Given the description of an element on the screen output the (x, y) to click on. 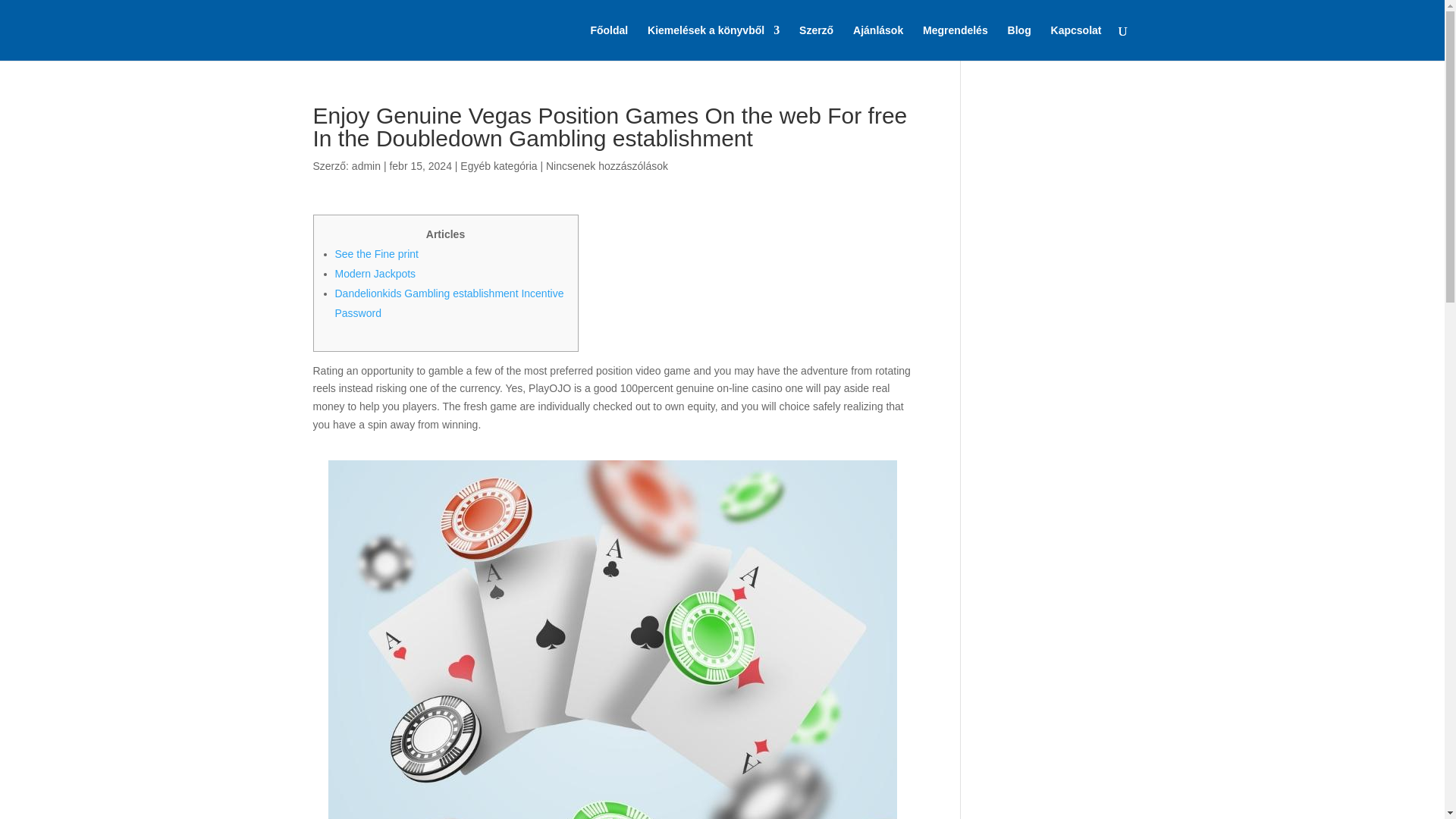
admin (366, 165)
See the Fine print (376, 254)
Dandelionkids Gambling establishment Incentive Password (449, 303)
Kapcsolat (1076, 42)
Modern Jackpots (375, 273)
